Given the description of an element on the screen output the (x, y) to click on. 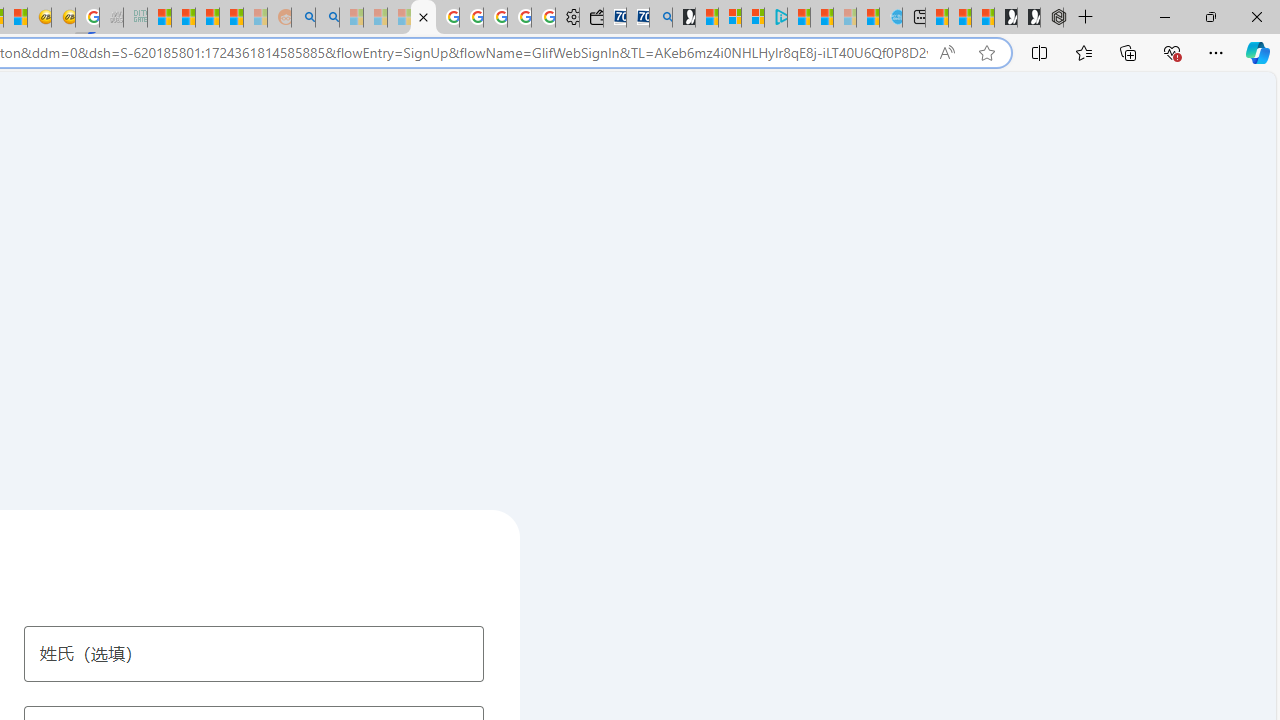
Wallet (590, 17)
Cheap Car Rentals - Save70.com (637, 17)
DITOGAMES AG Imprint - Sleeping (135, 17)
